Given the description of an element on the screen output the (x, y) to click on. 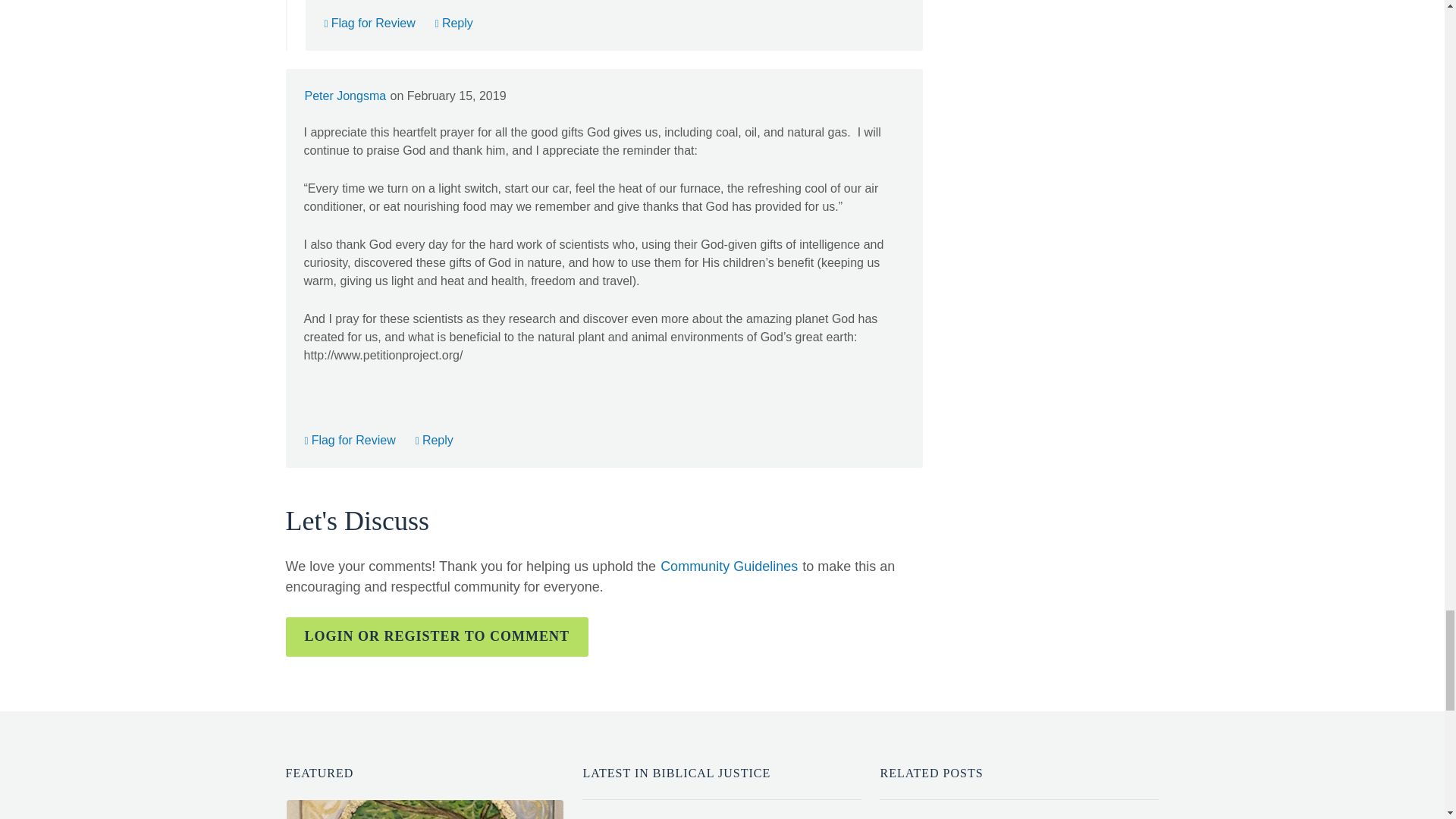
View user profile. (344, 95)
